Given the description of an element on the screen output the (x, y) to click on. 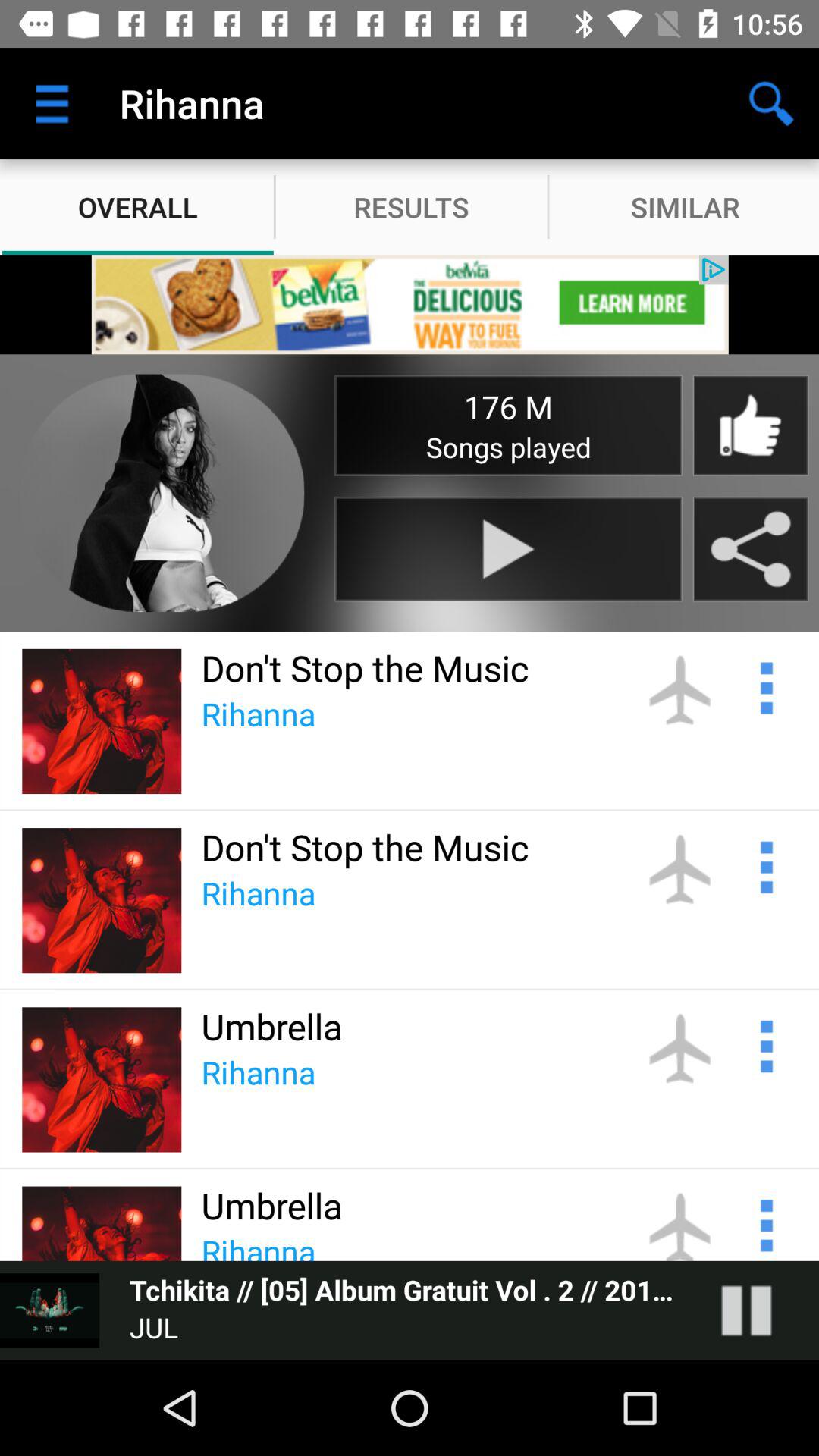
share the article (764, 685)
